Given the description of an element on the screen output the (x, y) to click on. 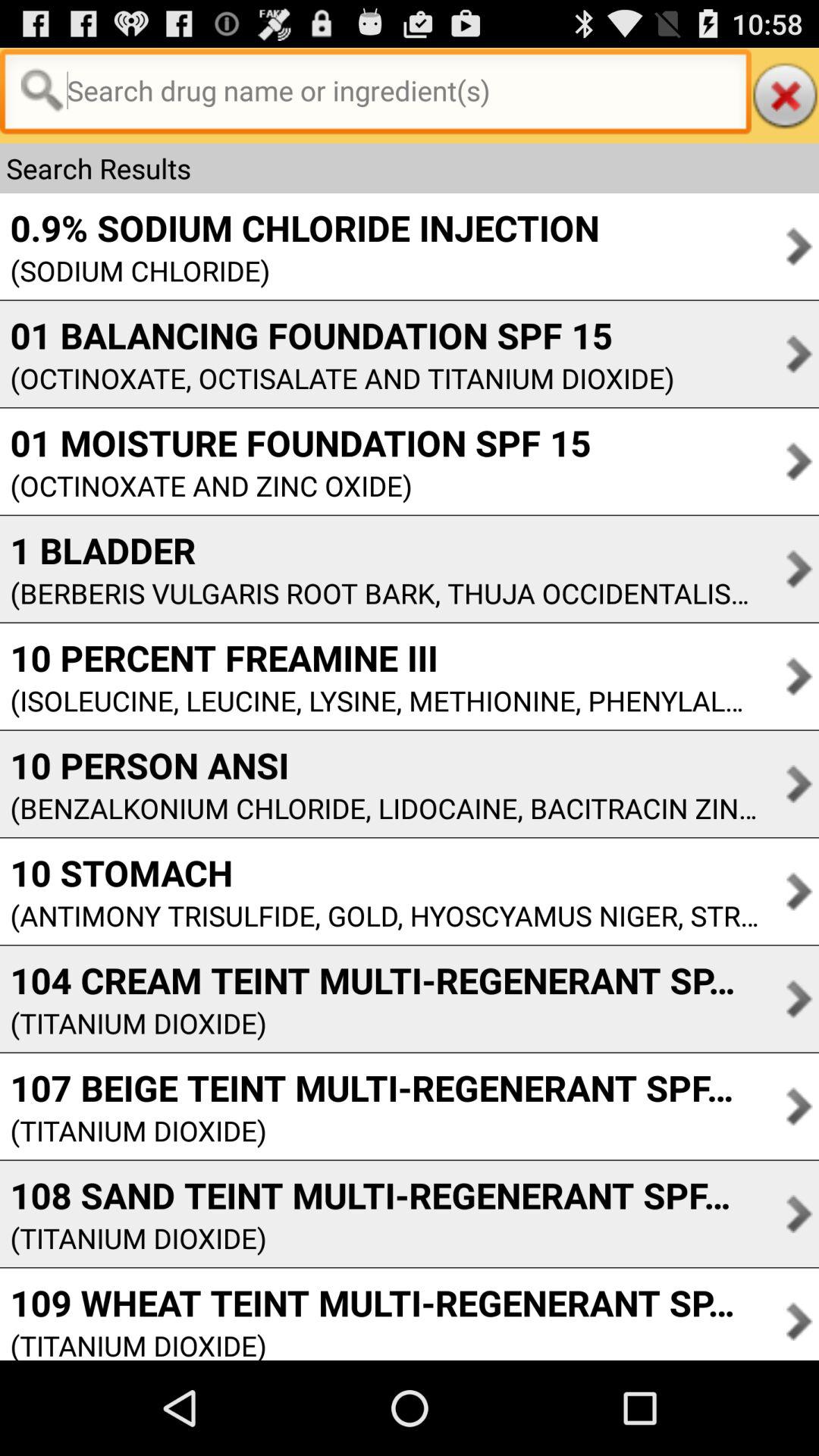
turn off app below octinoxate and zinc item (379, 550)
